Given the description of an element on the screen output the (x, y) to click on. 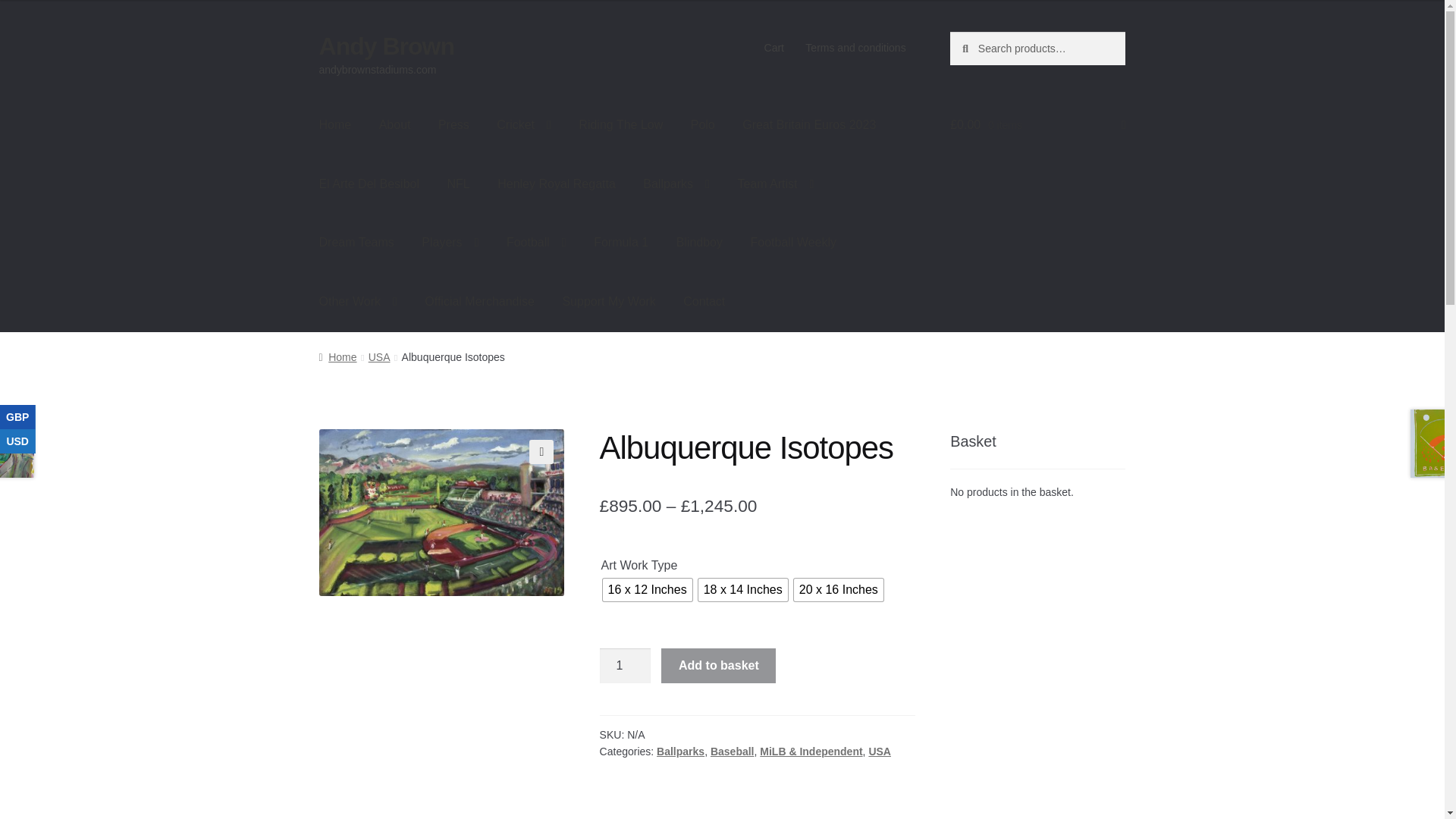
Great Britain Euros 2023 (809, 124)
20 x 16 Inches (838, 589)
Team Artist (775, 183)
El Arte Del Besibol (369, 183)
Ballparks (676, 183)
Henley Royal Regatta (555, 183)
View your shopping basket (1037, 124)
Cart (773, 47)
Cricket (523, 124)
Terms and conditions (855, 47)
18 x 14 Inches (742, 589)
Andy Brown (386, 45)
About (394, 124)
